Given the description of an element on the screen output the (x, y) to click on. 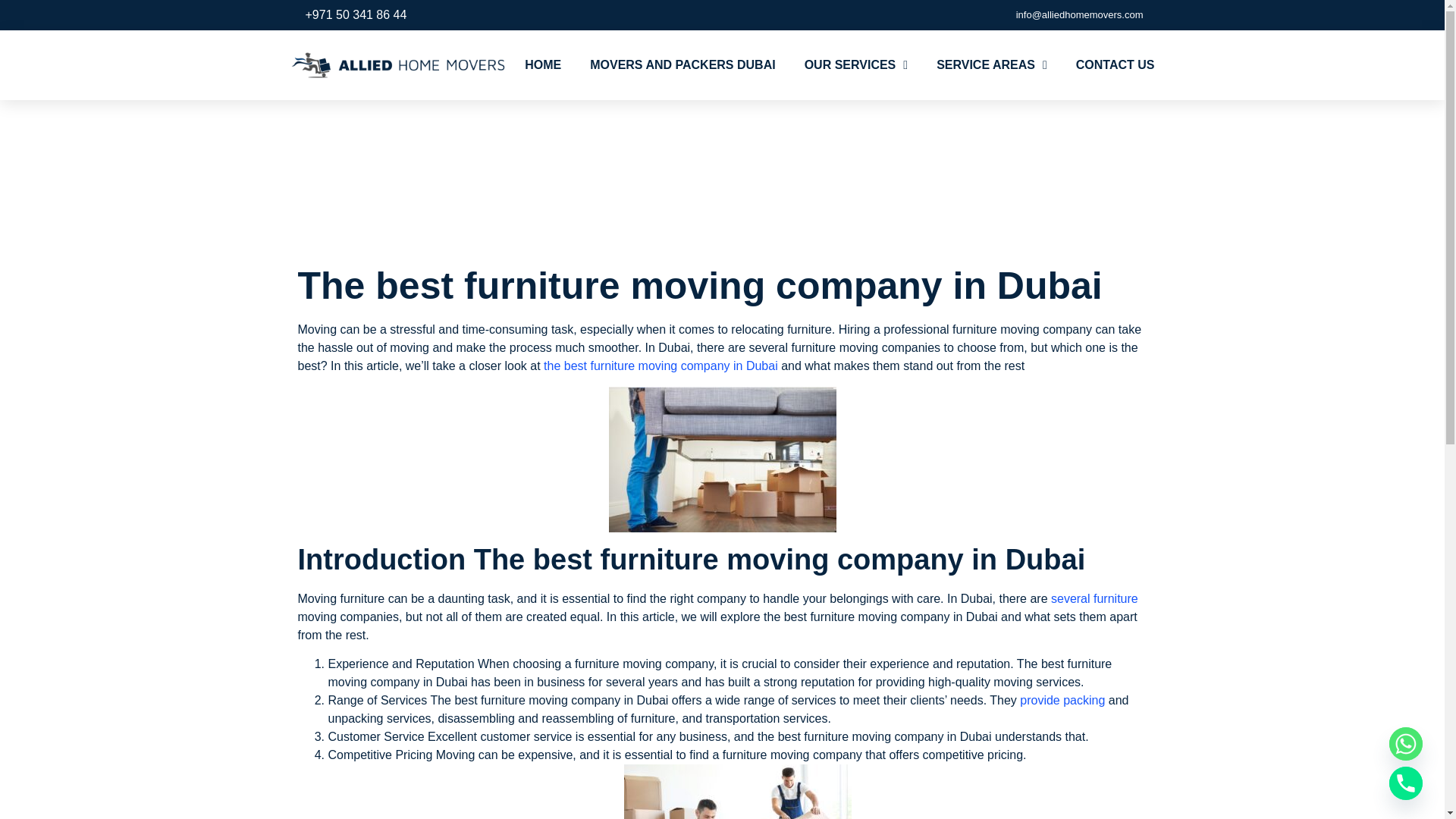
the best furniture moving company in Dubai (658, 365)
provide packing (1062, 699)
several furniture (1094, 598)
MOVERS AND PACKERS DUBAI (681, 65)
CONTACT US (1114, 65)
OUR SERVICES (856, 65)
SERVICE AREAS (991, 65)
HOME (542, 65)
